Given the description of an element on the screen output the (x, y) to click on. 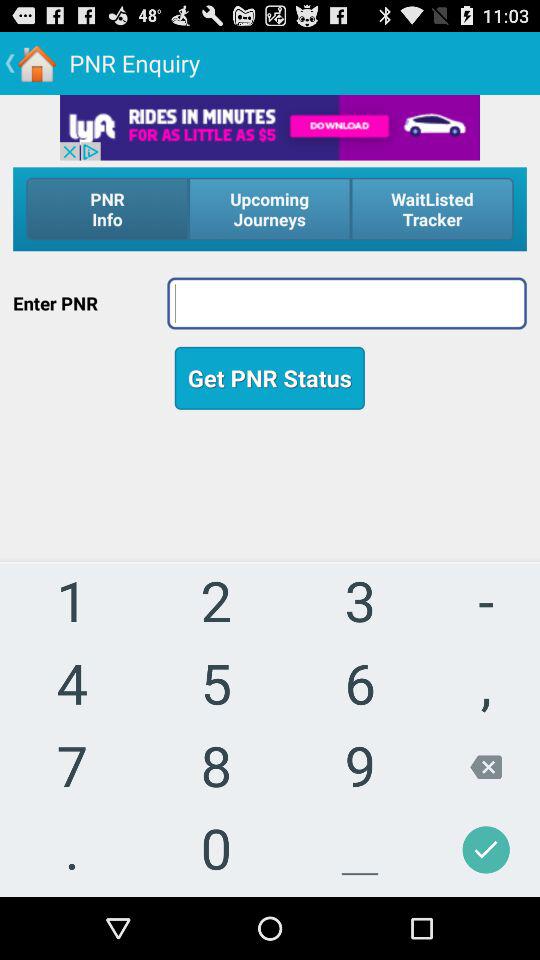
go to advertisement website (270, 127)
